Given the description of an element on the screen output the (x, y) to click on. 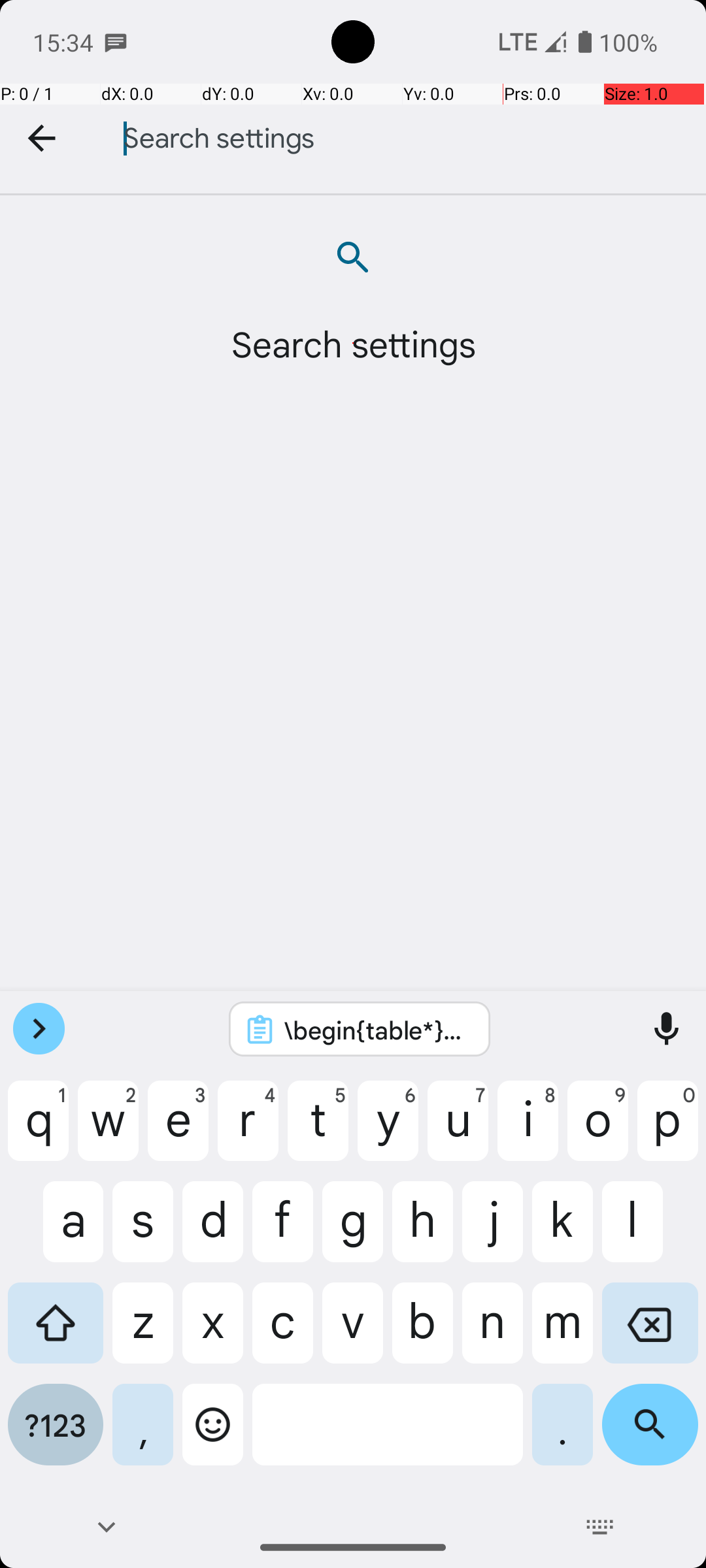
\begin{table*}[t!] \centering \renewcommand\arraystretch{1.1} \tabcolsep=0.05cm {\fontsize{10pt}{12pt}\selectfont \begin{tabular}{cccccccccc} \hline % \toprule          \multirow{2}{*}{LVLMs} & \multirow{2}{*}{\parbox{1.5cm}{\centering Model\\Size}}   & \multirow{2}{*}{\parbox{1.5cm}{\centering GUI\\Specific}} & \multicolumn{2}{c}{Mobile}        & \multicolumn{2}{c}{Desktop}       & \multicolumn{2}{c}{Web}           & \multirow{2}{*}{Average} \\ \cline{4-9}          &    &                               & Text            & Icon/Widget     & Text            & Icon/Widget     & Text            & Icon/Widget     &                          \\  % \midrule \hline MiniGPT-v2     & 7B   & \textcolor{darkred}{\ding{55}}                              &  8.4\%               & 6.6\%                & 6.2\%                & 2.9\%                & 6.5\%                & 3.4\%                & 5.7\%                         \\ Qwen-VL  & 9.6B   & \textcolor{darkred}{\ding{55}}                             & 9.5\%           & 4.8\%           & 5.7\%           & 5.0\%           & 3.5\%           & 2.4\%           & 5.2\%                    \\  GPT-4V   & -    & \textcolor{darkred}{\ding{55}}     & 22.6\%    & 24.5\%    & 20.2\%    & 11.8\%    &9.2\%  & 8.8\%     & 16.2\% \\ \hline Fuyu     & 8B   & \textcolor{darkgreen}{\ding{51}}                               & 41.0\%          & 1.3\%           & 33.0\%          & 3.6\%           & 33.9\%          & 4.4\%           & 19.5\%                   \\ CogAgent & 18B   & \textcolor{darkgreen}{\ding{51}}                               & 67.0\%          & 24.0\%          & \textbf{74.2\%} & 20.0\%          & \textbf{70.4\%} & 28.6\% & 47.4\%                   \\ \seek & 9.6B   & \textcolor{darkgreen}{\ding{51}}                              & \textbf{78.0\%} & \textbf{52.0\%} & 72.2\%          & \textbf{30.0\%} & 55.7\%          & \textbf{32.5\%} & \textbf{53.4\%}          \\  \hline % \bottomrule \end{tabular} } \caption{Results of different LVLMs on \seesp. The best results in each column are highlighted in \textbf{bold}. Benefiting from efficient GUI grounding pre-training, \seek significantly enhanced LVLMs' ability to locate GUI elements following instructions, and surpassed the strong baseline CogAgent with a smaller model size.} \label{tab:screenspot} \vspace{-1.0em} \end{table*} Element type: android.widget.TextView (376, 1029)
